Given the description of an element on the screen output the (x, y) to click on. 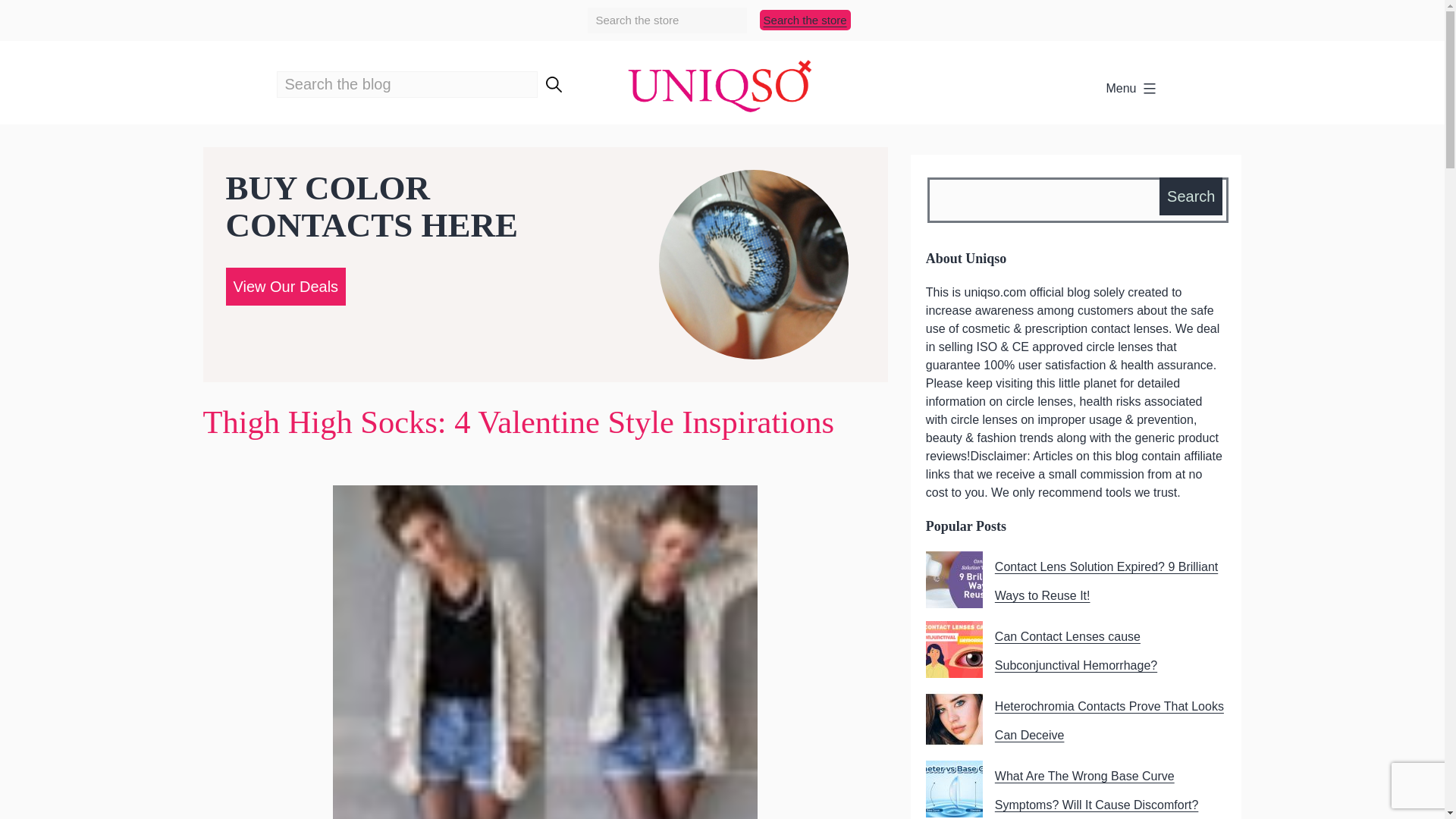
Search (1190, 196)
View Our Deals (285, 285)
Search the store (805, 19)
Menu (1131, 88)
Search (1190, 196)
